Given the description of an element on the screen output the (x, y) to click on. 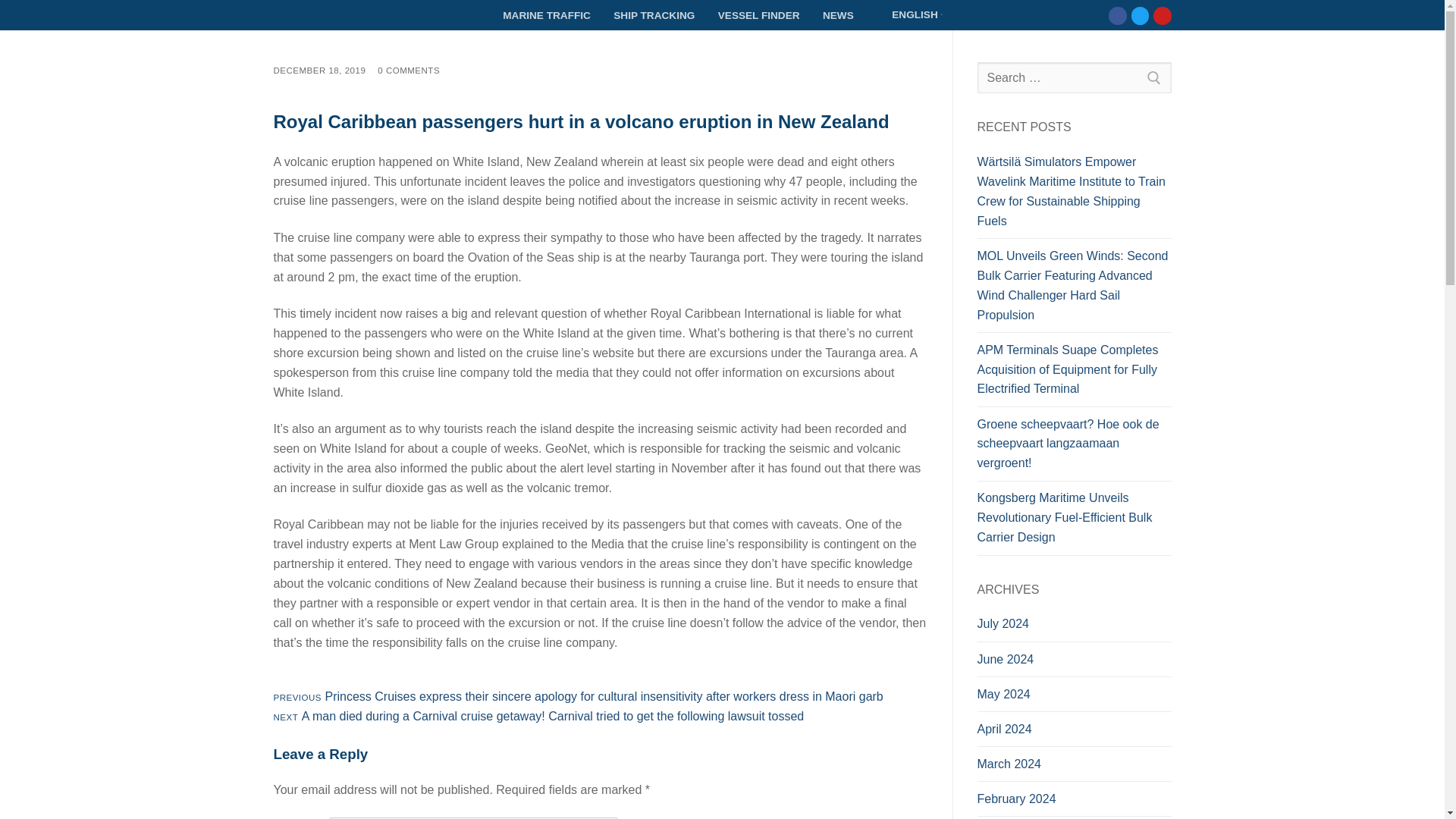
English (882, 14)
NEWS (837, 15)
MARINE TRAFFIC (546, 15)
Facebook (1117, 15)
DECEMBER 18, 2019 (319, 70)
SHIP TRACKING (654, 15)
Youtube (909, 14)
Twitter (1162, 15)
0 COMMENTS (1139, 15)
VESSEL FINDER (408, 70)
